Given the description of an element on the screen output the (x, y) to click on. 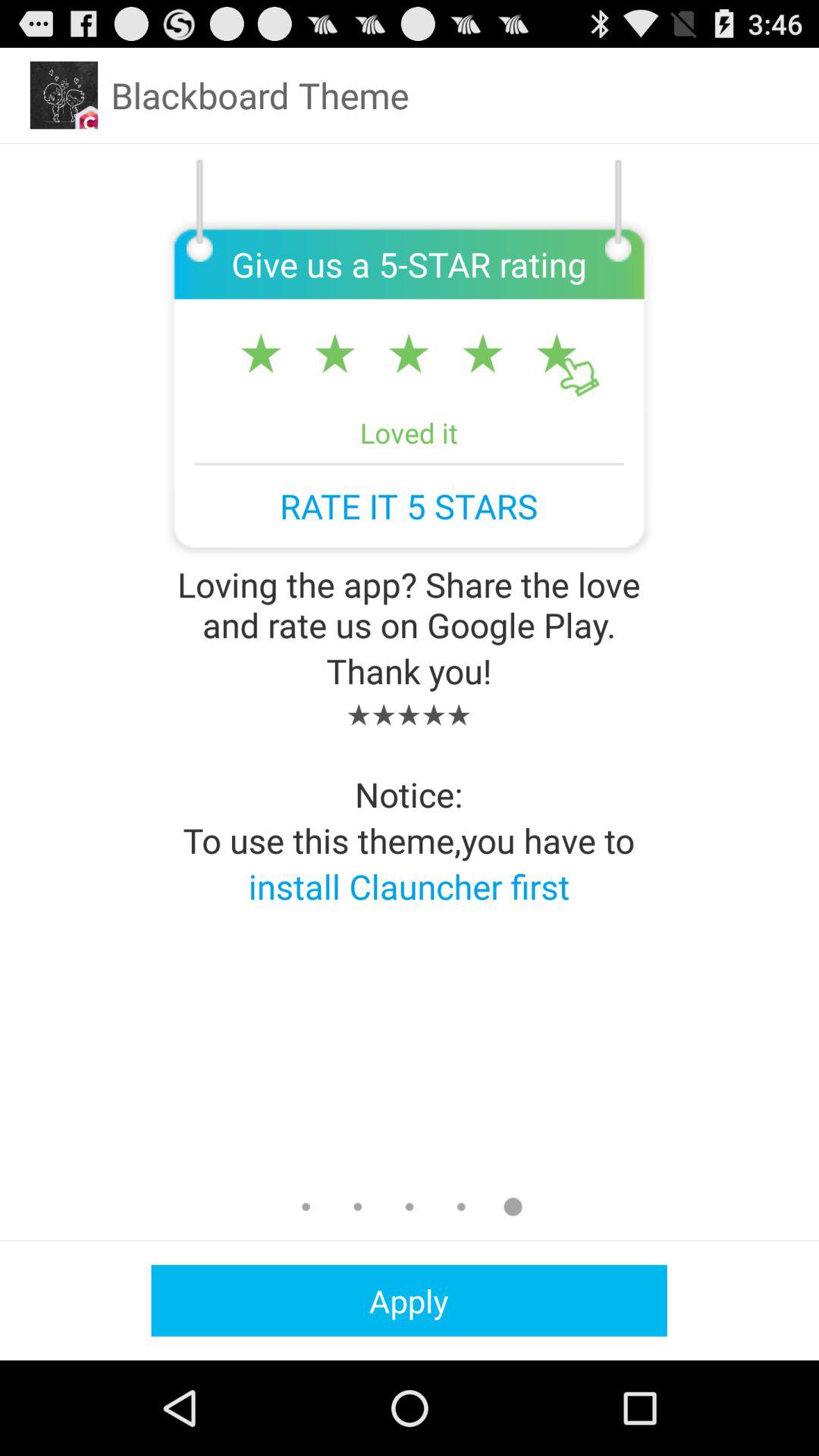
turn off install clauncher first app (409, 886)
